Given the description of an element on the screen output the (x, y) to click on. 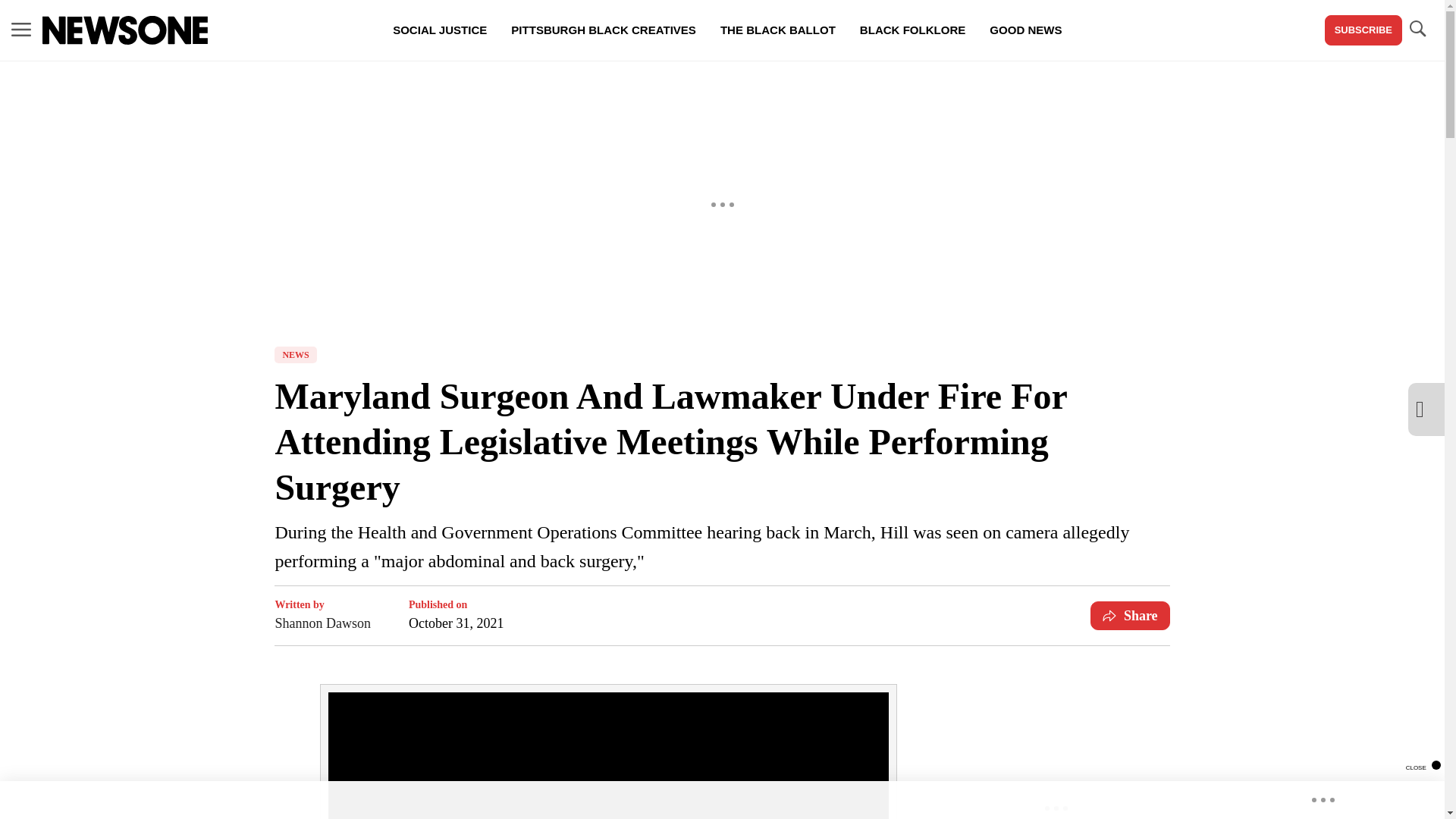
TOGGLE SEARCH (1417, 28)
BLACK FOLKLORE (911, 30)
SOCIAL JUSTICE (439, 30)
MENU (20, 30)
MENU (20, 29)
Share (1130, 615)
GOOD NEWS (1025, 30)
NEWS (295, 354)
Shannon Dawson (323, 622)
PITTSBURGH BLACK CREATIVES (603, 30)
